Given the description of an element on the screen output the (x, y) to click on. 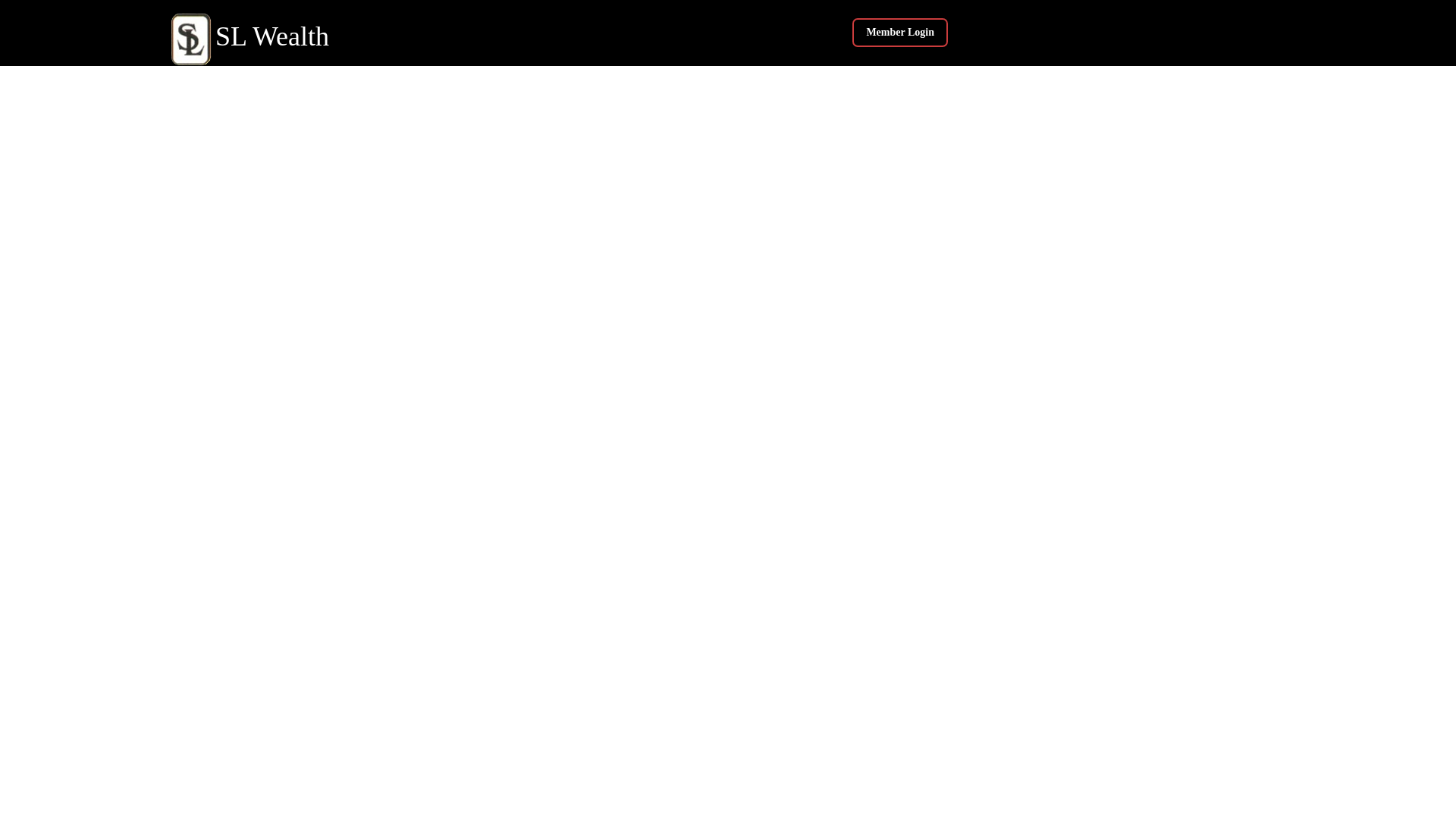
Member Login (899, 32)
SL Wealth (250, 36)
